Given the description of an element on the screen output the (x, y) to click on. 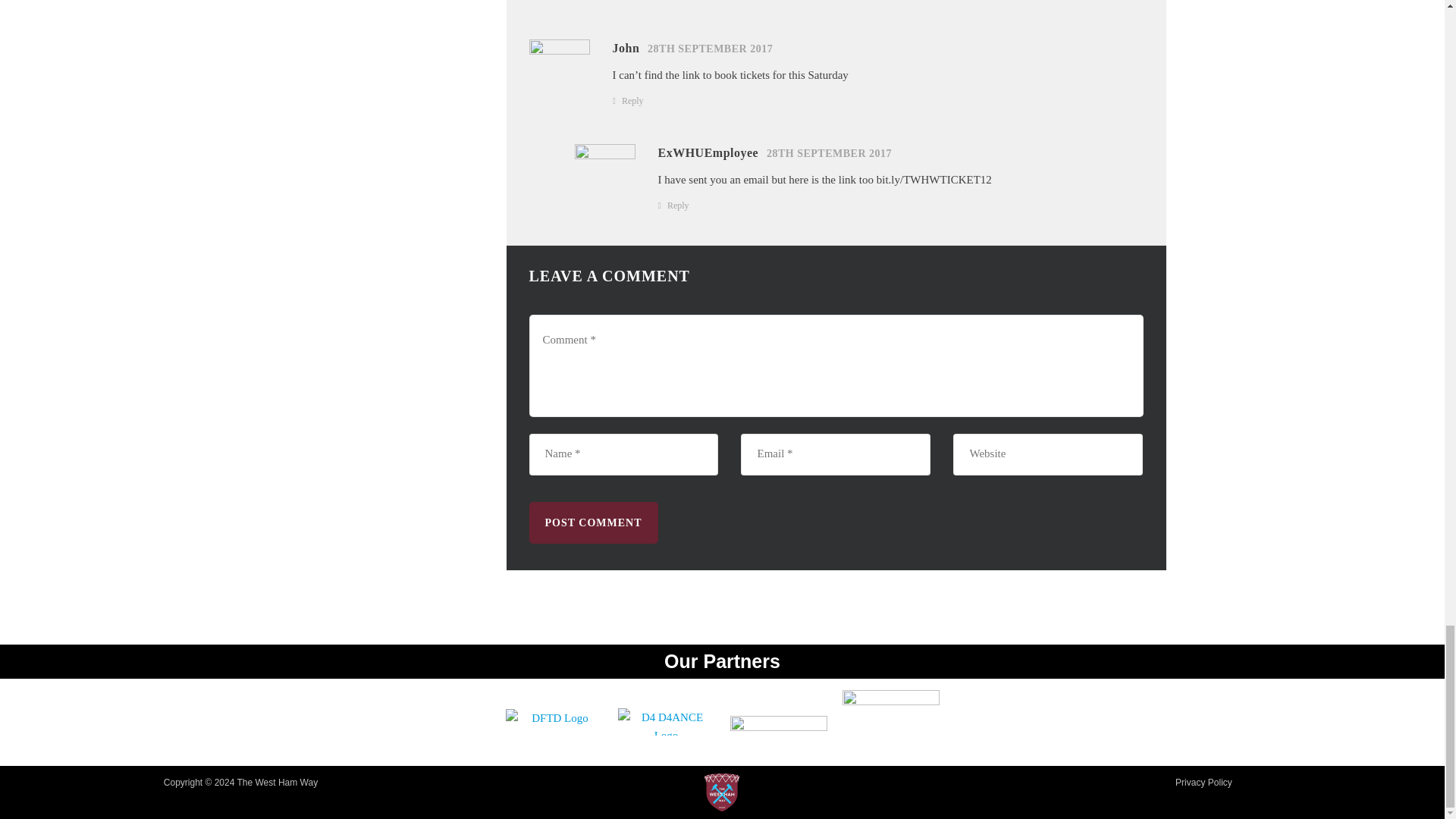
Reply (632, 99)
Post Comment (593, 522)
Post Comment (593, 522)
Reply (677, 204)
